Given the description of an element on the screen output the (x, y) to click on. 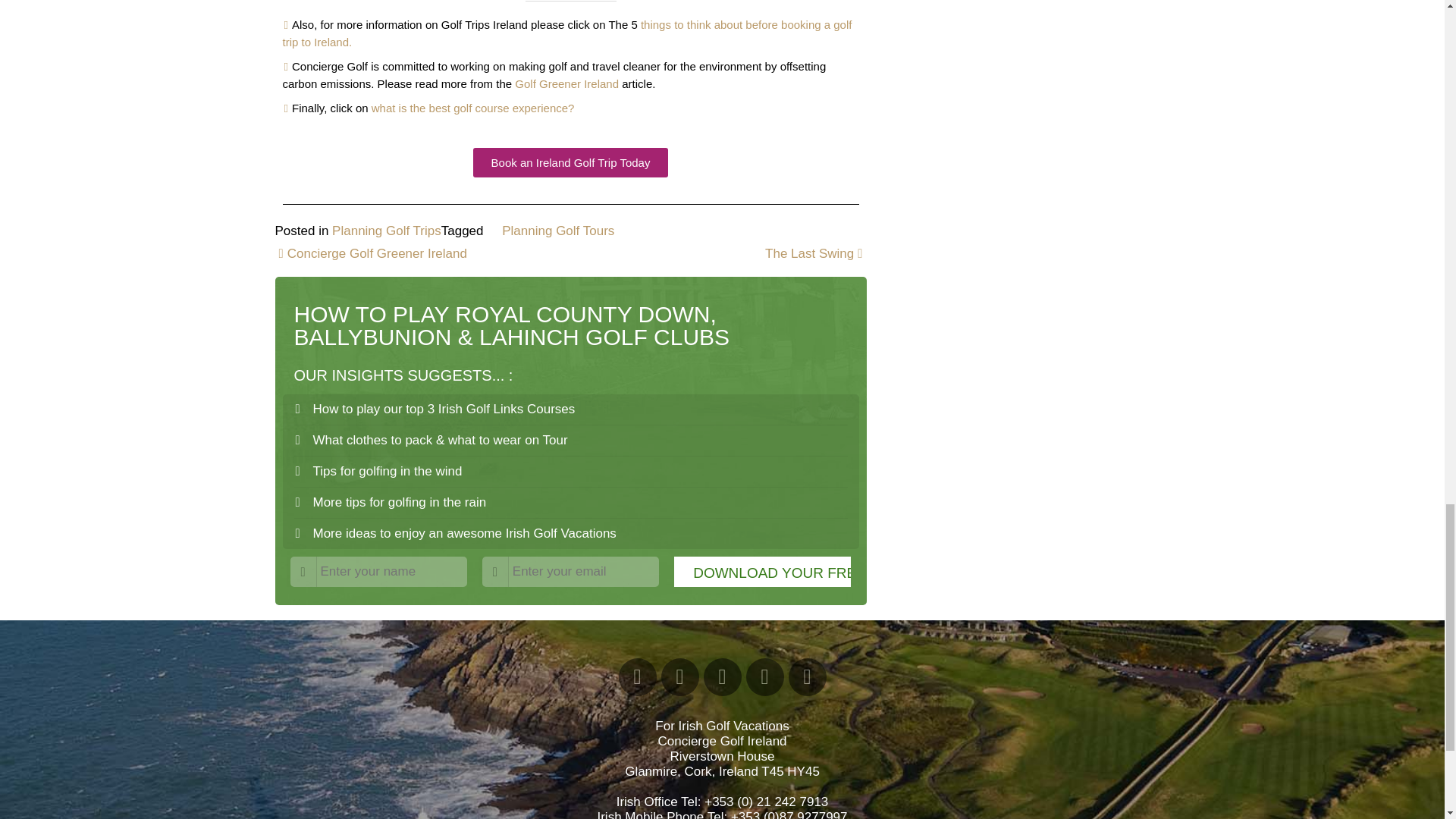
Concierge Golf on Linkedin (722, 677)
Concierge Golf on pinterest (764, 677)
Download Your Free Ebook (762, 571)
Planning Golf Trips (386, 229)
Golf Greener Ireland (566, 83)
Concierge Golf on facebook (637, 677)
Concierge Golf on YouTube (679, 677)
Planning Golf Tours (558, 229)
what is the best golf course experience? (473, 107)
things to think about before booking a golf trip to Ireland. (566, 33)
Download Your Free Ebook (762, 571)
Book an Ireland Golf Trip Today (570, 161)
The Last Swing (815, 252)
Concierge Golf Greener Ireland (370, 252)
Concierge Golf on Instagram (808, 677)
